Given the description of an element on the screen output the (x, y) to click on. 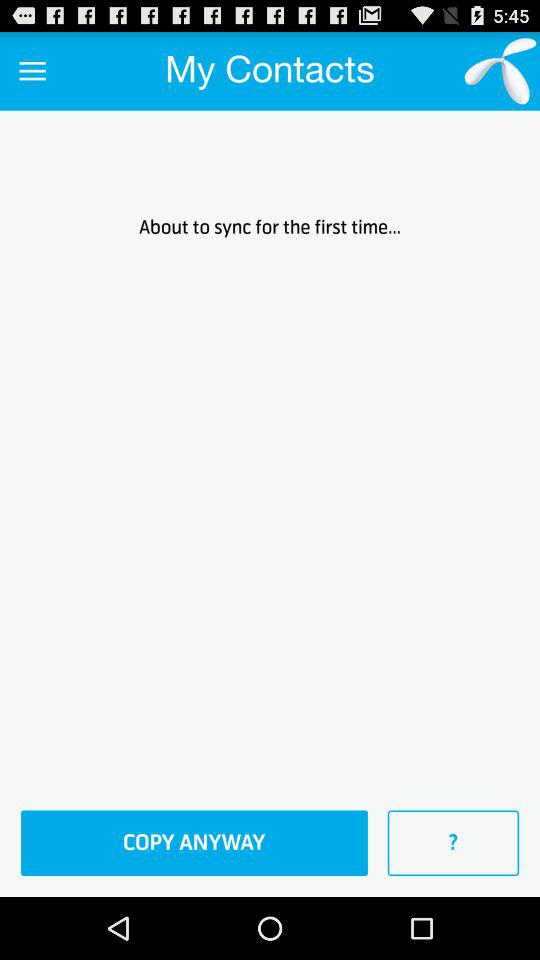
launch icon at the bottom right corner (453, 843)
